Given the description of an element on the screen output the (x, y) to click on. 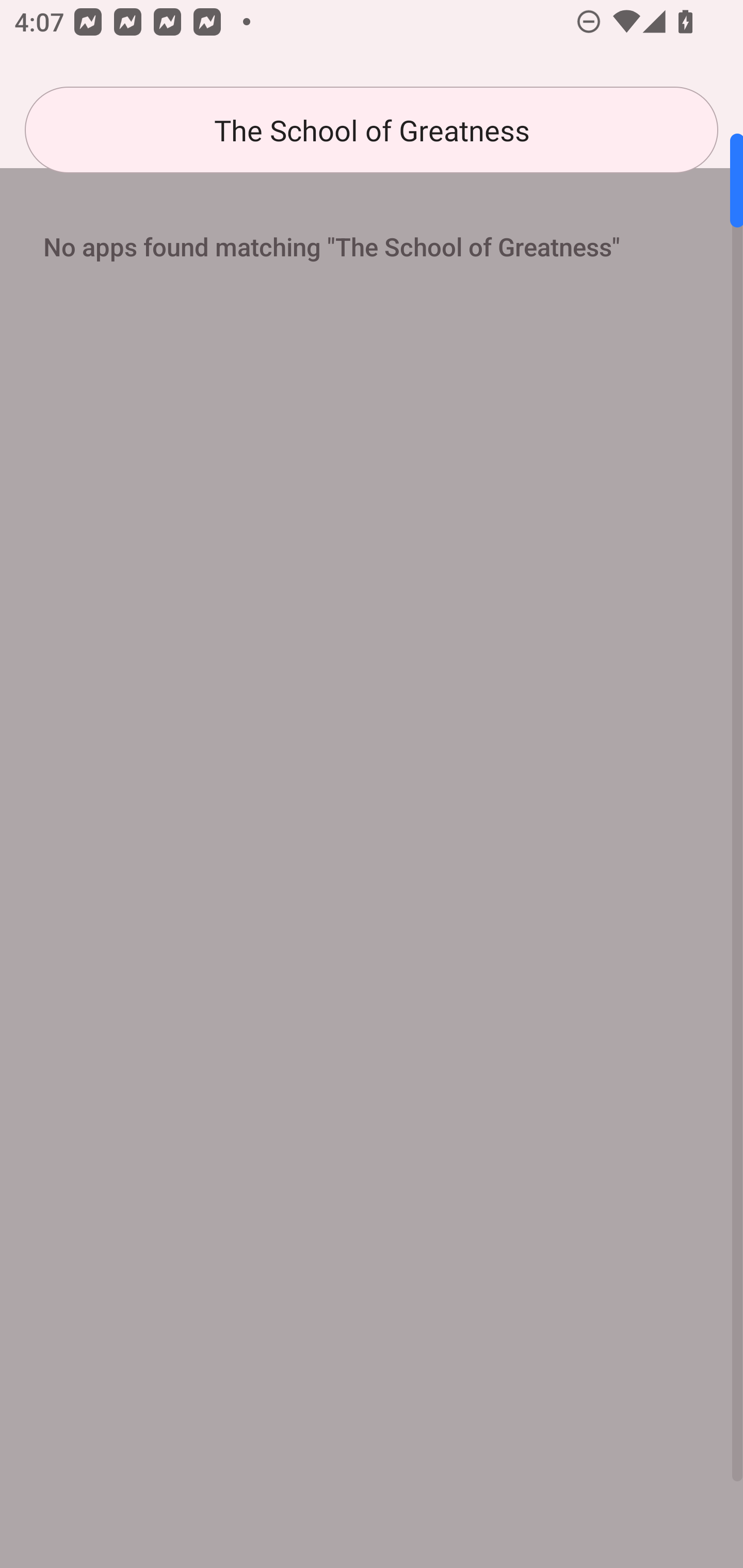
The School of Greatness (371, 130)
